Given the description of an element on the screen output the (x, y) to click on. 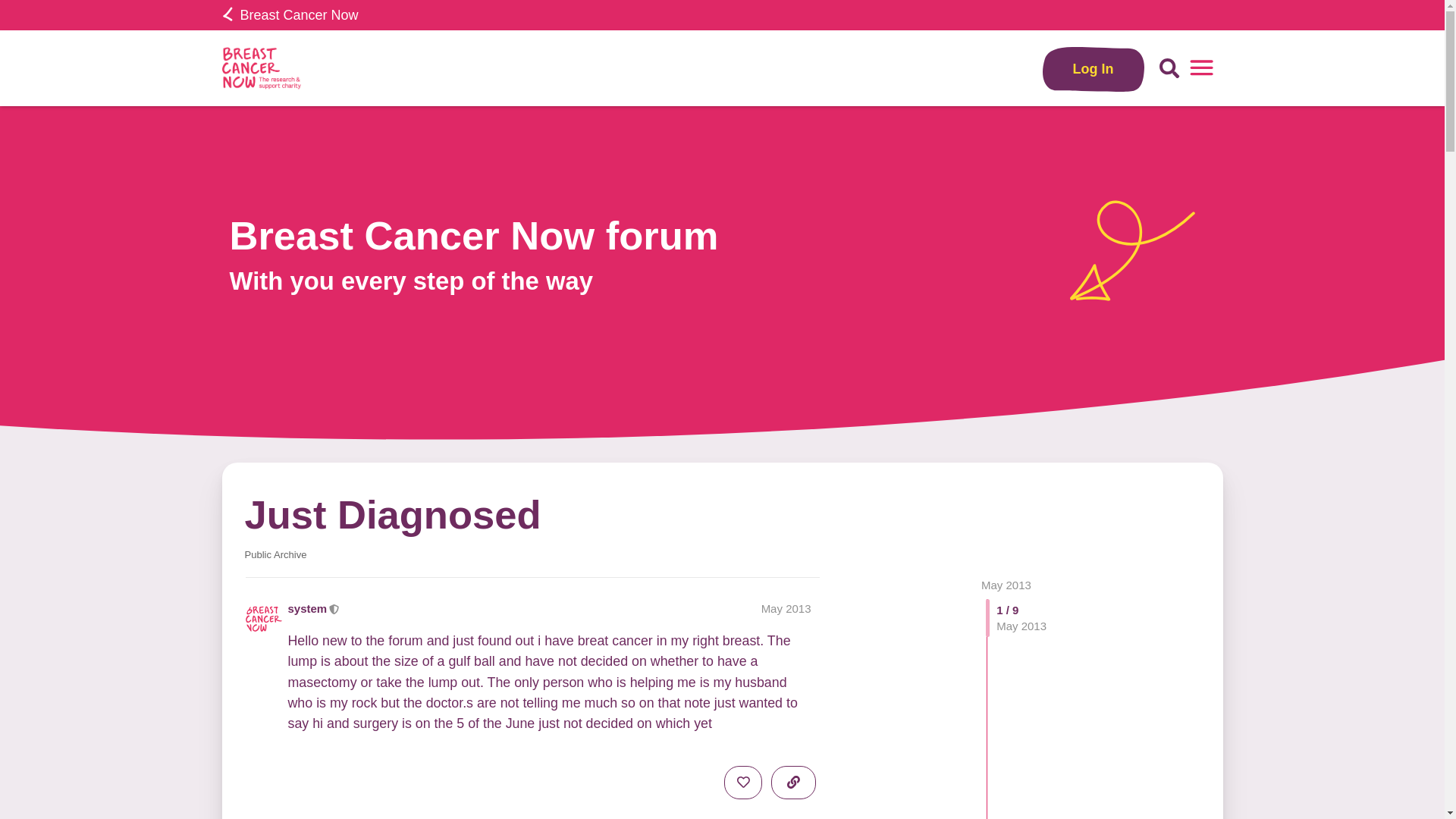
Log In (1093, 68)
system (307, 608)
Post date (785, 608)
May 2013 (785, 608)
copy a link to this post to clipboard (793, 782)
Archived posts which are available to view. (274, 554)
Breast Cancer Now (289, 15)
Search (1169, 68)
May 2013 (1005, 584)
Public Archive (274, 554)
May 2013 (1005, 584)
This user is a moderator (334, 608)
menu (1201, 67)
like this post (742, 782)
Just Diagnosed (392, 514)
